Given the description of an element on the screen output the (x, y) to click on. 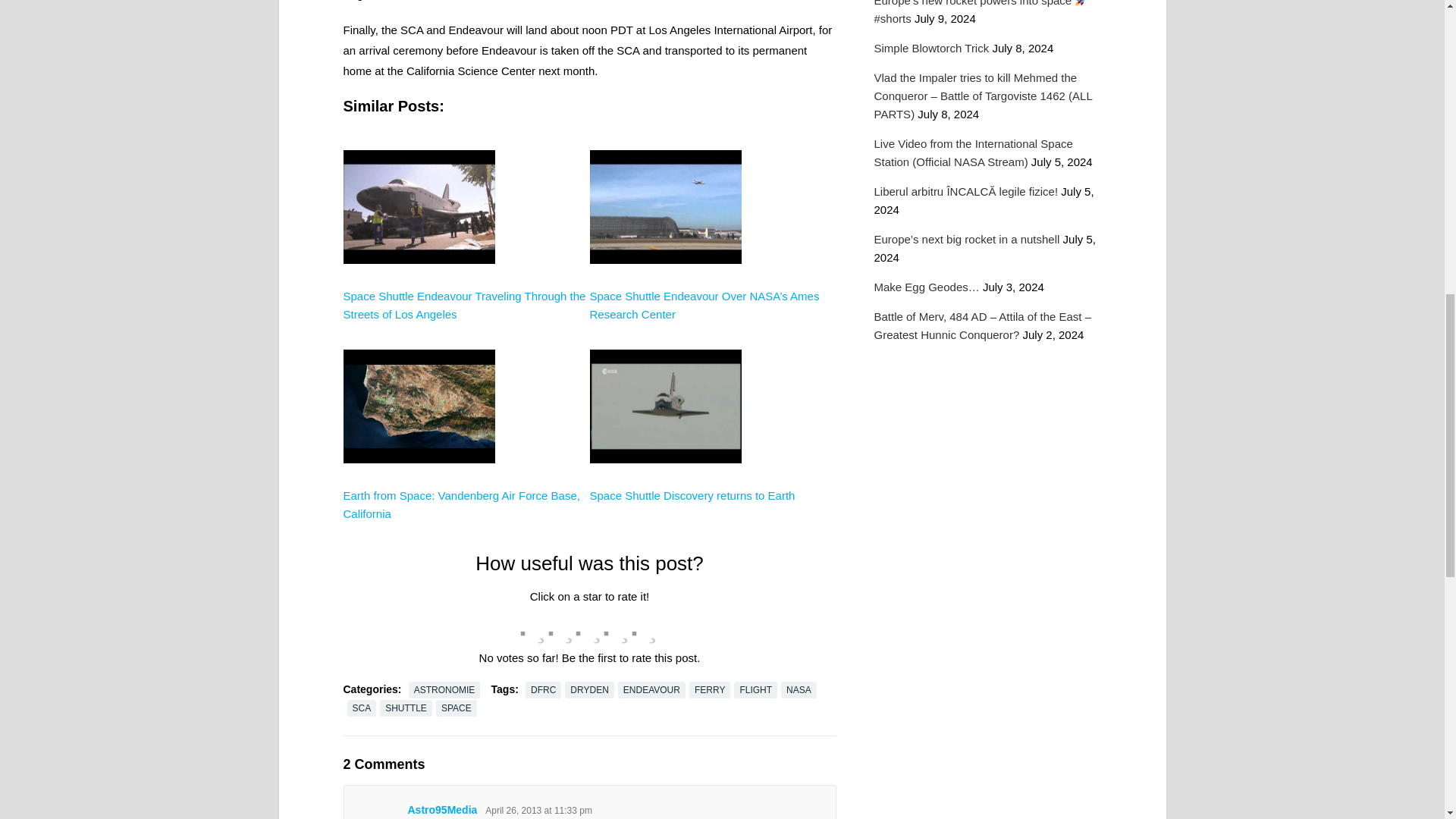
Earth (418, 518)
ASTRONOMIE (444, 689)
ENDEAVOUR (651, 689)
Earth from Space: Vandenberg Air Force Base, California (460, 504)
DFRC (542, 689)
Space (418, 318)
Earth from Space: Vandenberg Air Force Base, California (460, 504)
Space (665, 318)
Space Shuttle Discovery returns to Earth (691, 495)
Space Shuttle Discovery returns to Earth (691, 495)
Space (665, 518)
DRYDEN (588, 689)
